Given the description of an element on the screen output the (x, y) to click on. 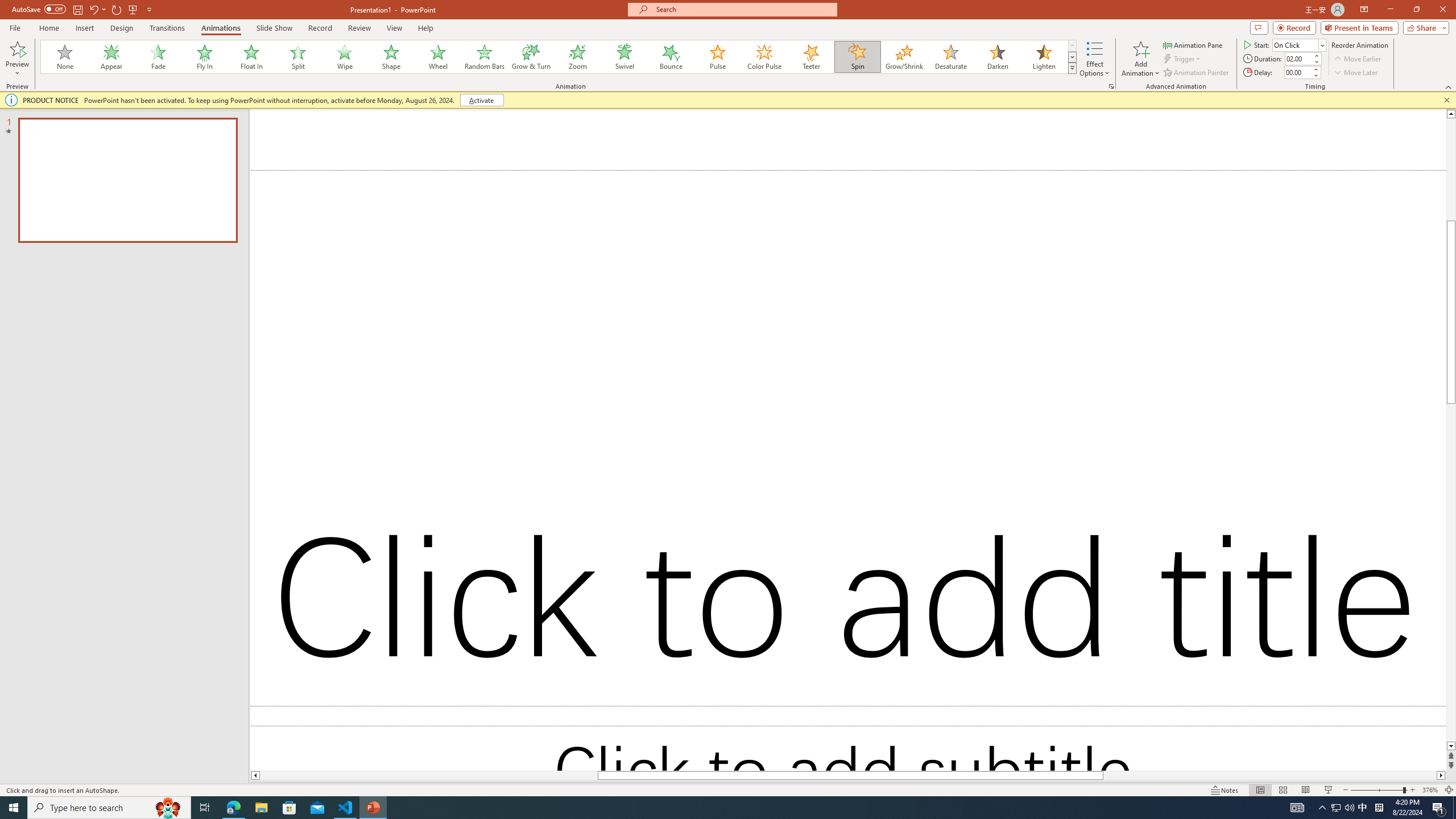
Fade (158, 56)
Close this message (1446, 99)
Animation Pane (1193, 44)
Preview (17, 48)
Activate (481, 100)
Zoom 376% (1430, 790)
Move Later (1355, 72)
Class: NetUIImage (1072, 68)
